Given the description of an element on the screen output the (x, y) to click on. 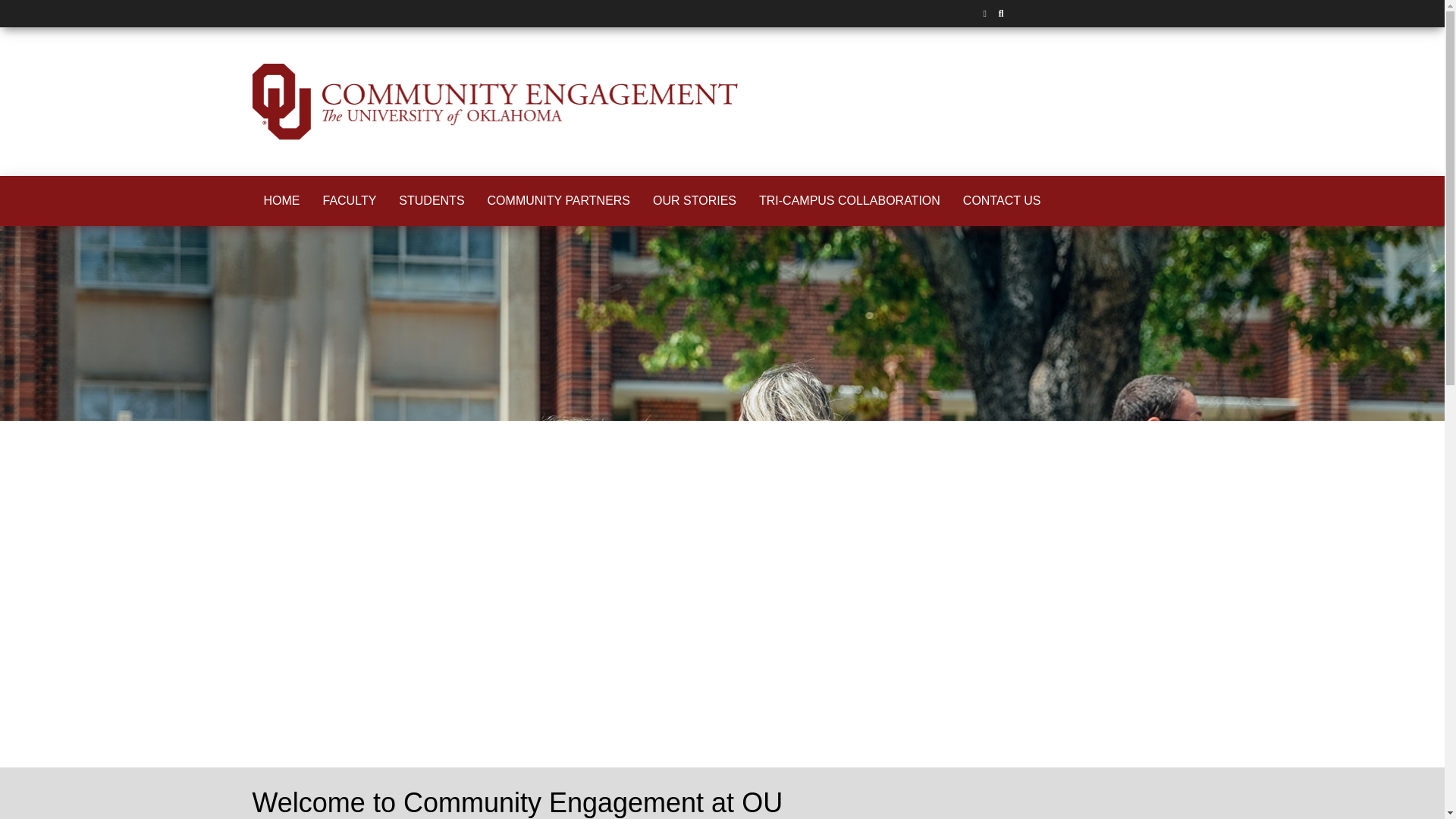
FACULTY (349, 200)
TRI-CAMPUS COLLABORATION (850, 200)
CONTACT US (1002, 200)
HOME (281, 200)
OUR STORIES (695, 200)
COMMUNITY PARTNERS (559, 200)
STUDENTS (431, 200)
